Given the description of an element on the screen output the (x, y) to click on. 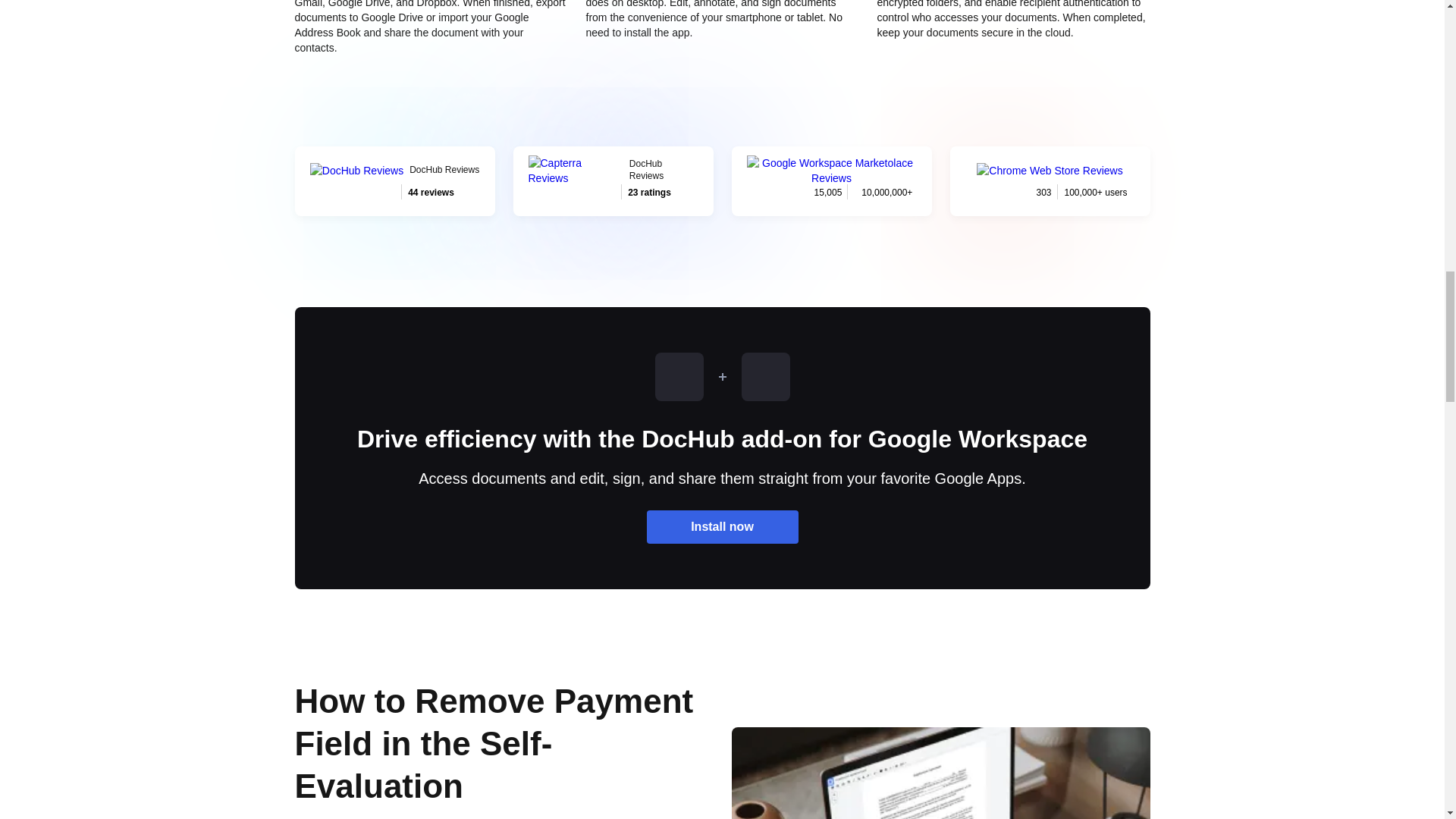
Install now (721, 526)
